Given the description of an element on the screen output the (x, y) to click on. 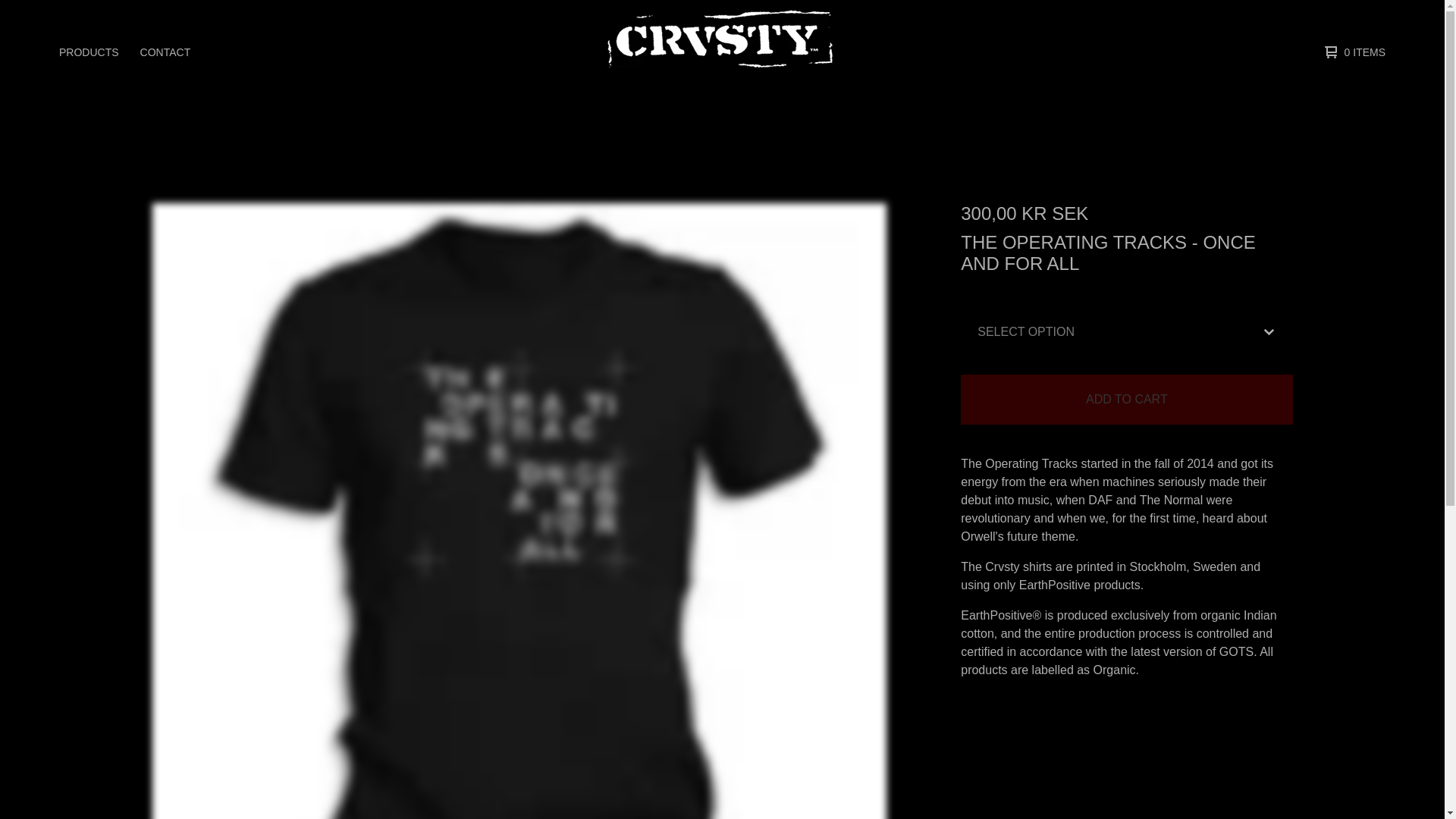
Add to Cart (1126, 399)
Crvsty (720, 52)
0 ITEMS (1351, 52)
ADD TO CART (1126, 399)
View cart (1351, 52)
CONTACT (165, 52)
PRODUCTS (89, 52)
